Given the description of an element on the screen output the (x, y) to click on. 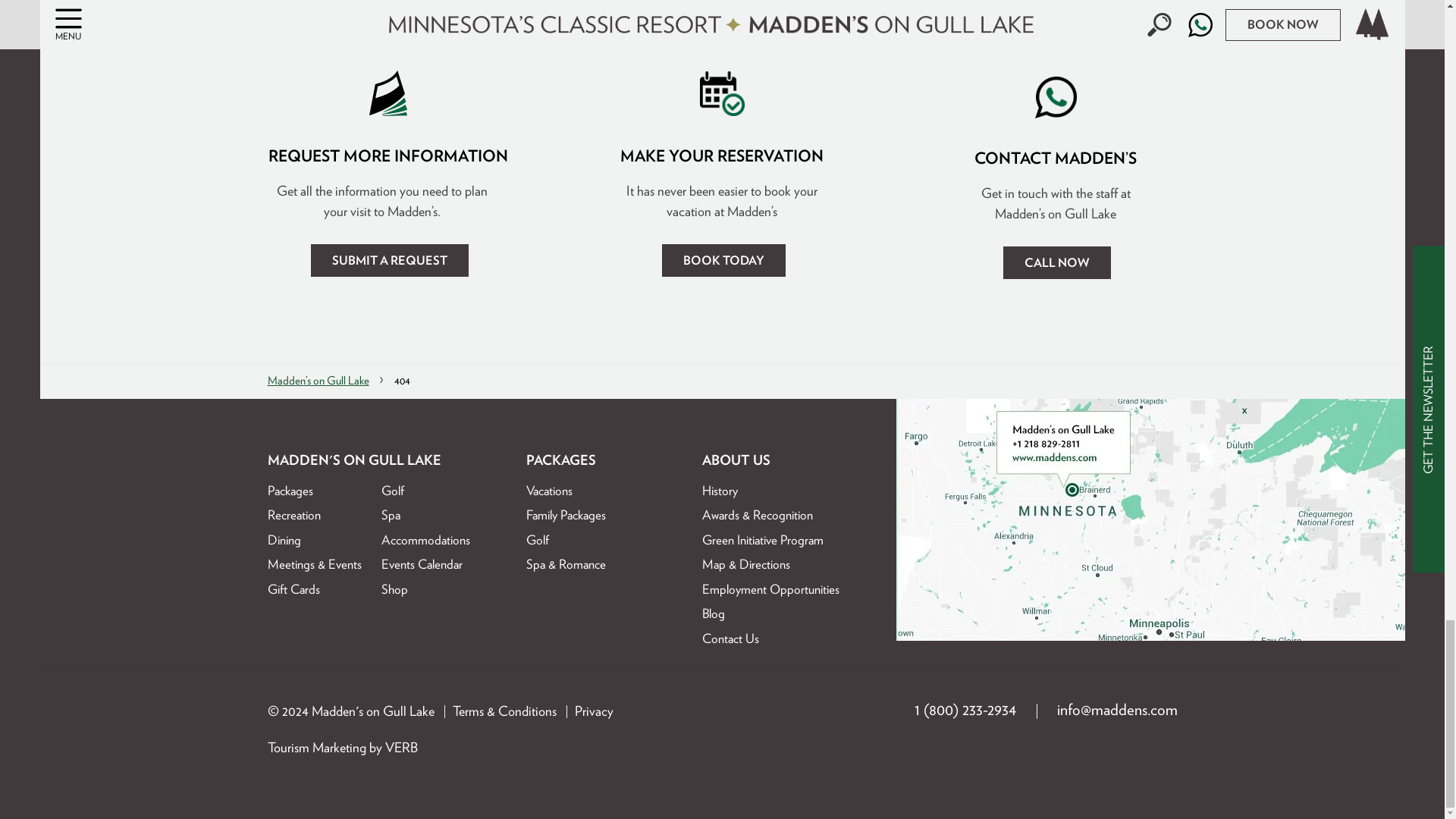
Tourism Marketing by VERB (401, 747)
